Given the description of an element on the screen output the (x, y) to click on. 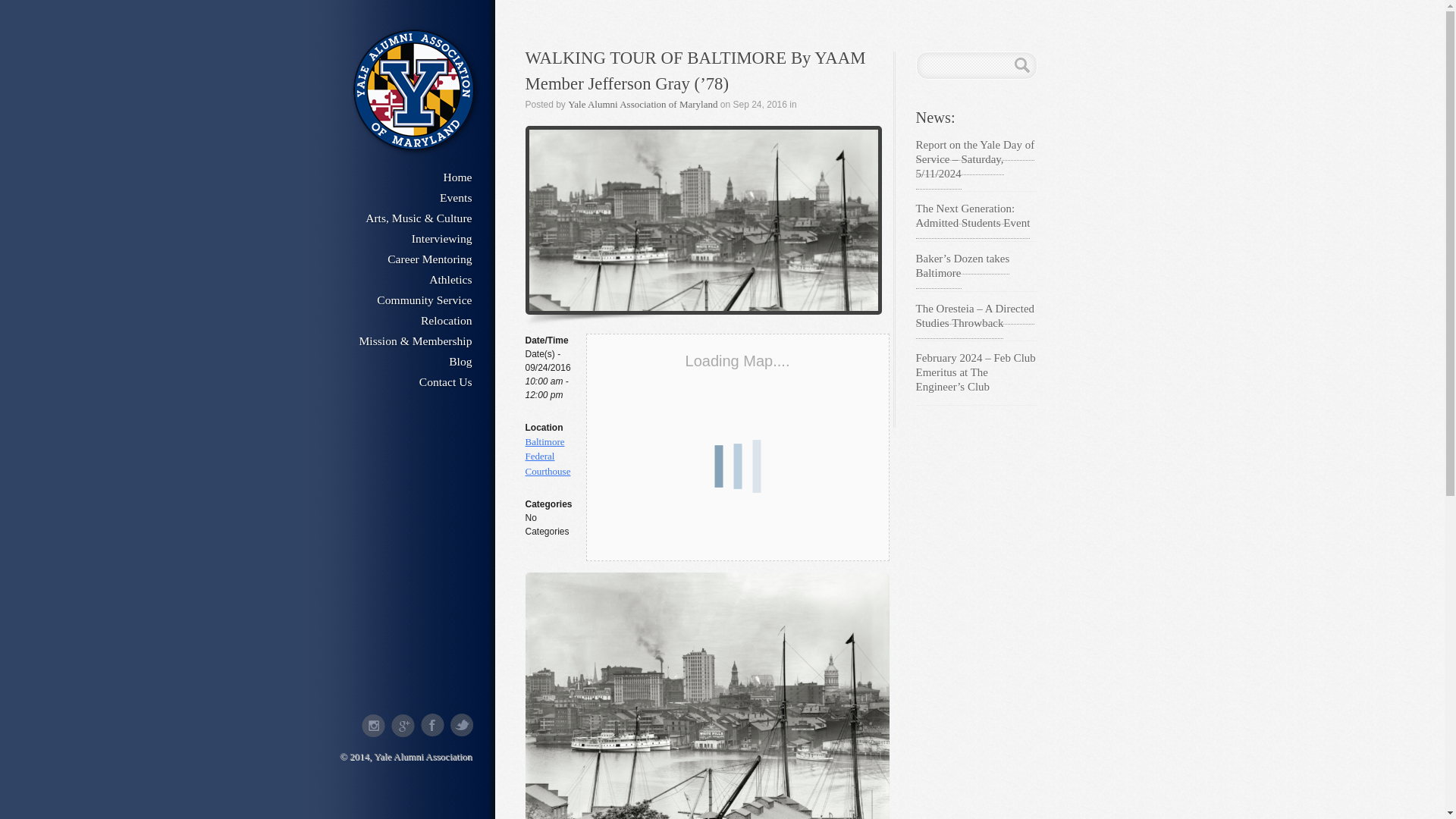
Relocation (399, 319)
Home (399, 176)
Search (1021, 64)
Yale Alumni Association of Maryland (642, 103)
Posts by Yale Alumni Association of Maryland (642, 103)
Baltimore Federal Courthouse (547, 455)
Career Mentoring (399, 258)
Events (399, 196)
Athletics (399, 278)
Blog (399, 360)
The Next Generation: Admitted Students Event (972, 216)
Community Service (399, 299)
Search (1021, 64)
Contact Us (399, 381)
Interviewing (399, 237)
